Given the description of an element on the screen output the (x, y) to click on. 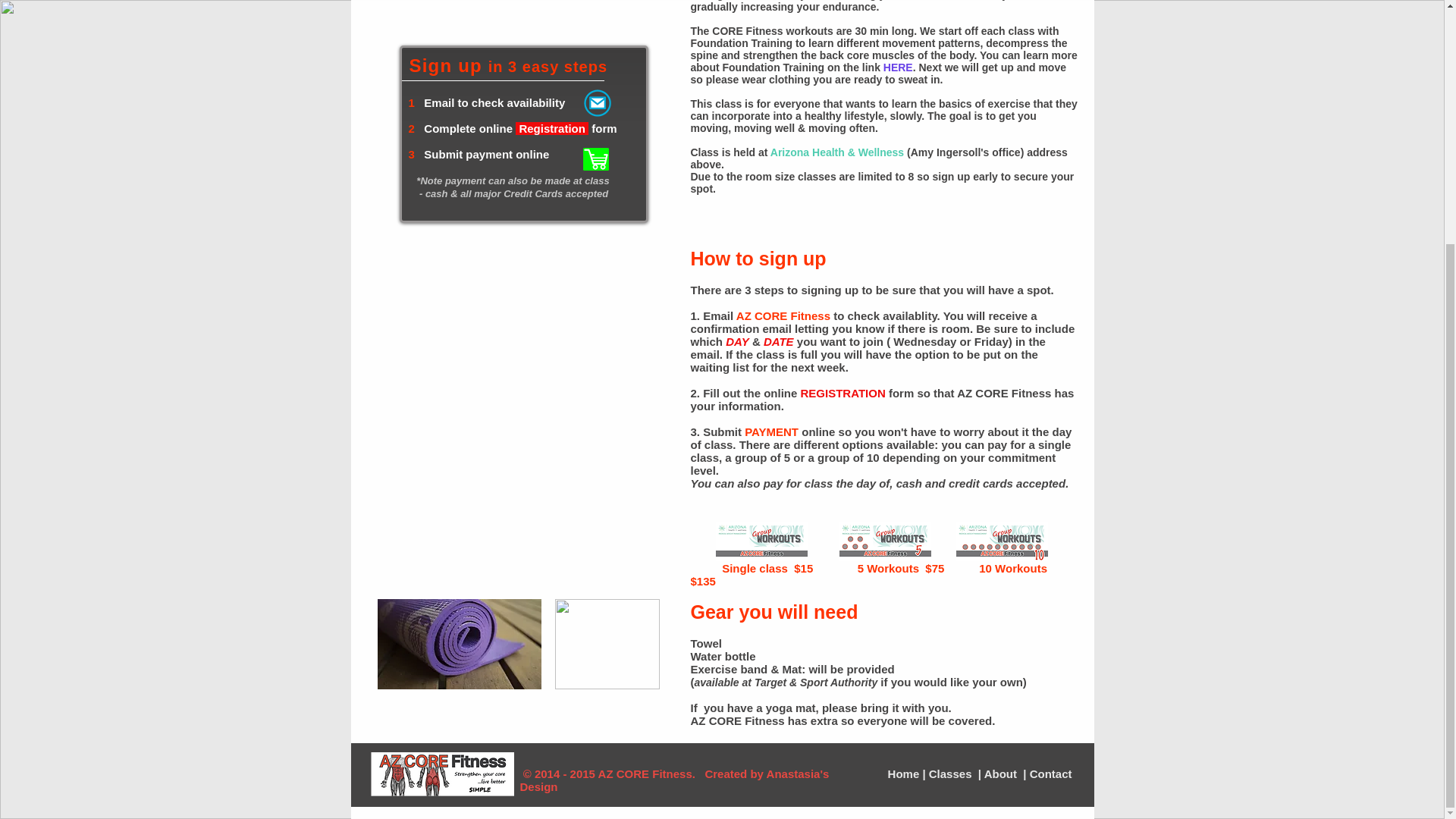
Home (905, 773)
Classes  (951, 773)
About  (1002, 773)
HERE (897, 67)
REGISTRATION (842, 392)
AZ CORE Fitness (782, 315)
PAYMENT (770, 431)
Registration  (553, 128)
Contact (1048, 773)
